Given the description of an element on the screen output the (x, y) to click on. 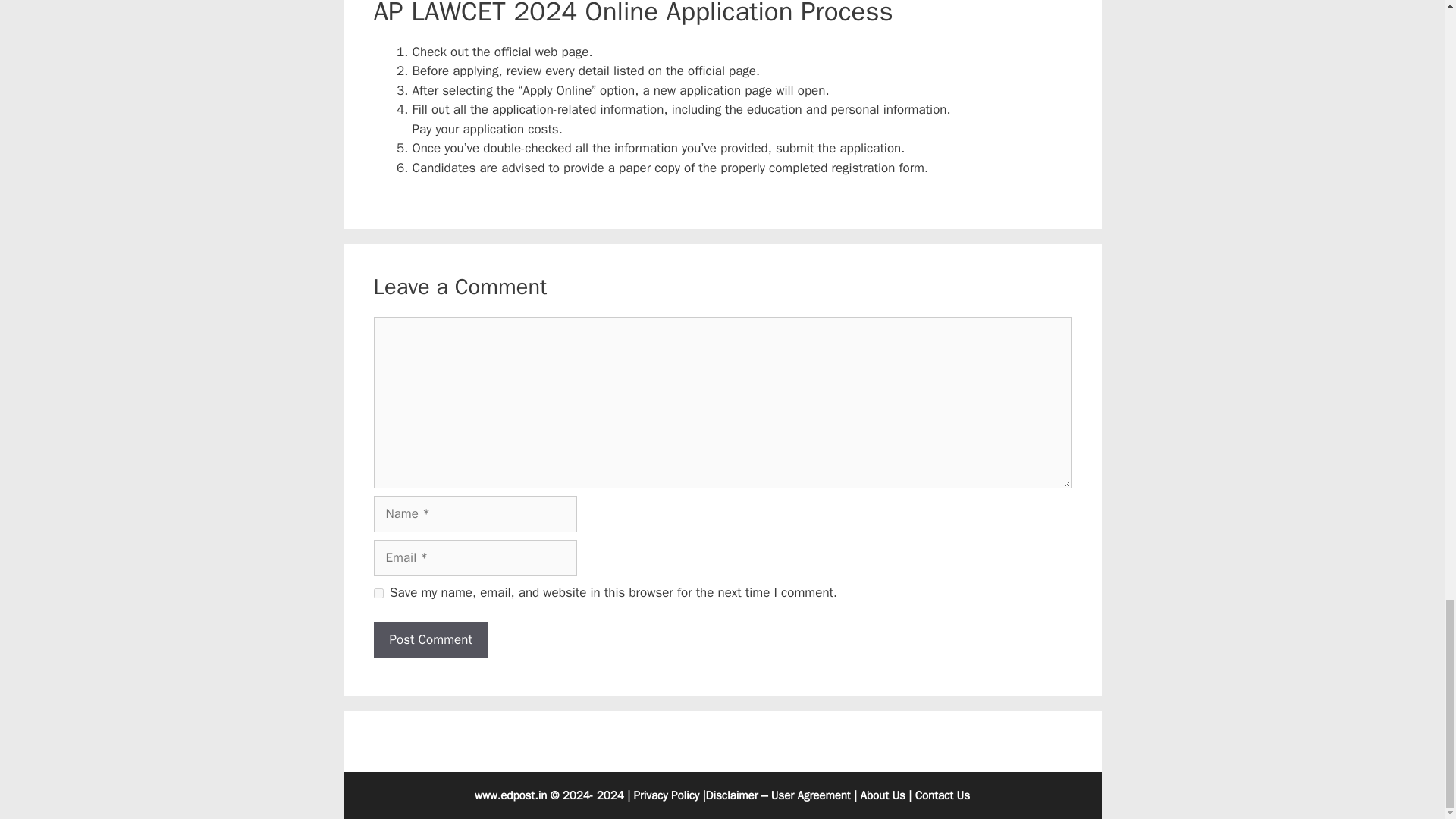
yes (377, 593)
About Us (882, 795)
Privacy Policy (666, 795)
Post Comment (429, 639)
Contact Us (942, 795)
Post Comment (429, 639)
